Given the description of an element on the screen output the (x, y) to click on. 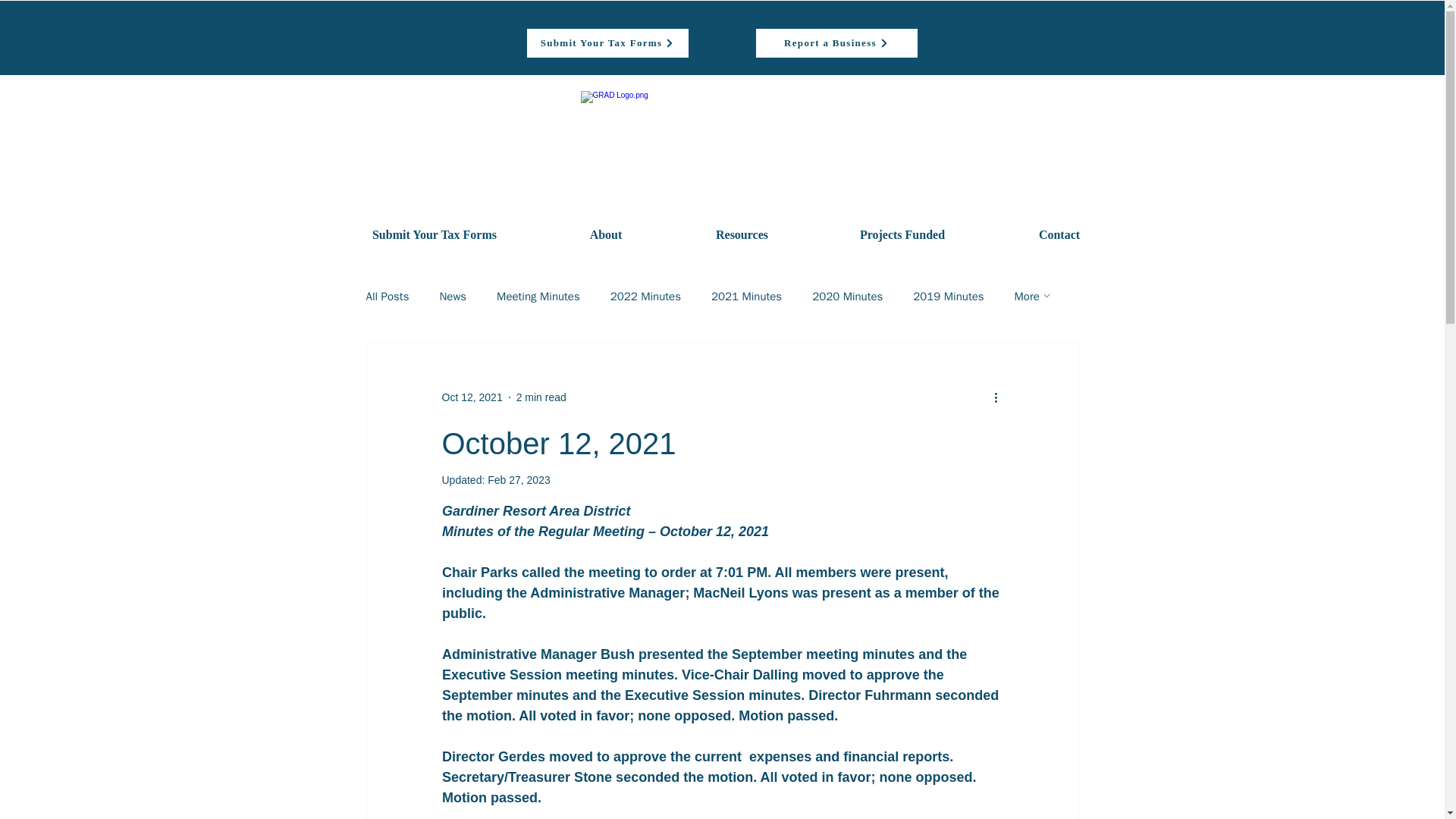
2020 Minutes (847, 296)
2021 Minutes (746, 296)
All Posts (387, 296)
Feb 27, 2023 (518, 480)
Resources (740, 234)
Contact (1059, 234)
Meeting Minutes (537, 296)
2019 Minutes (948, 296)
Submit Your Tax Forms (433, 234)
2 min read (541, 397)
Submit Your Tax Forms (606, 42)
News (452, 296)
2022 Minutes (645, 296)
Report a Business (836, 42)
About (606, 234)
